Given the description of an element on the screen output the (x, y) to click on. 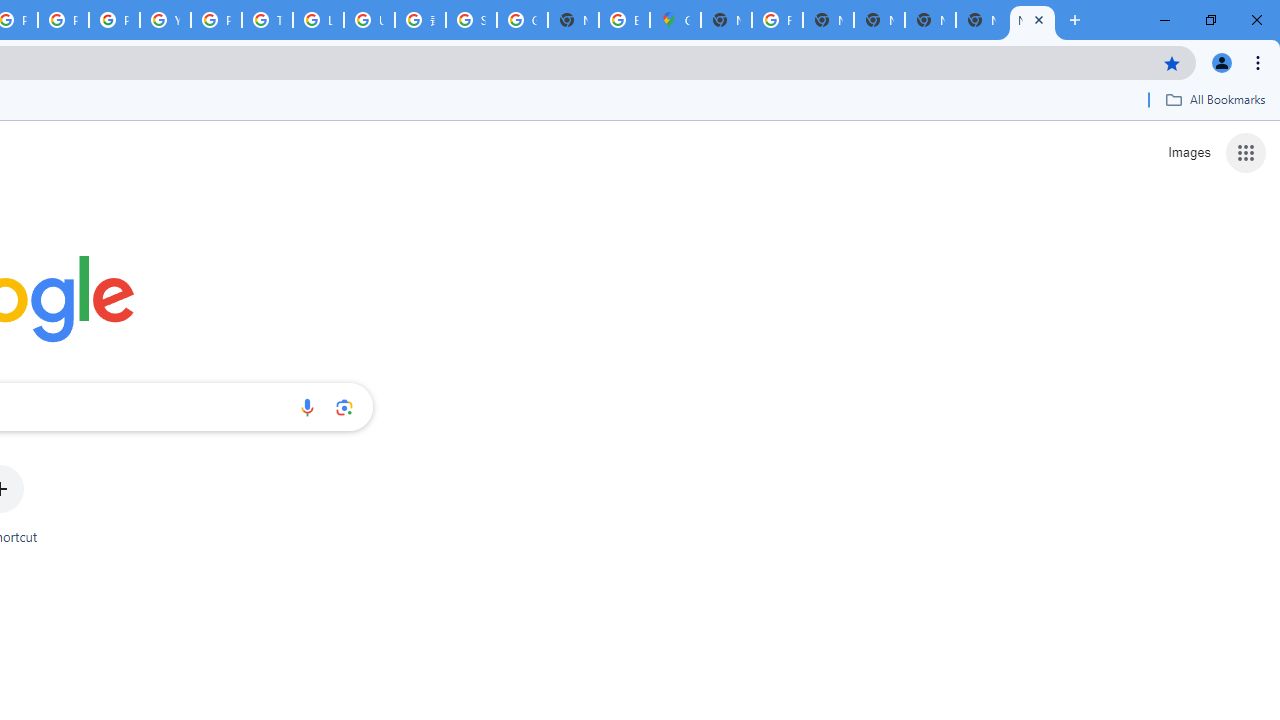
New Tab (981, 20)
New Tab (1032, 20)
New Tab (726, 20)
